Given the description of an element on the screen output the (x, y) to click on. 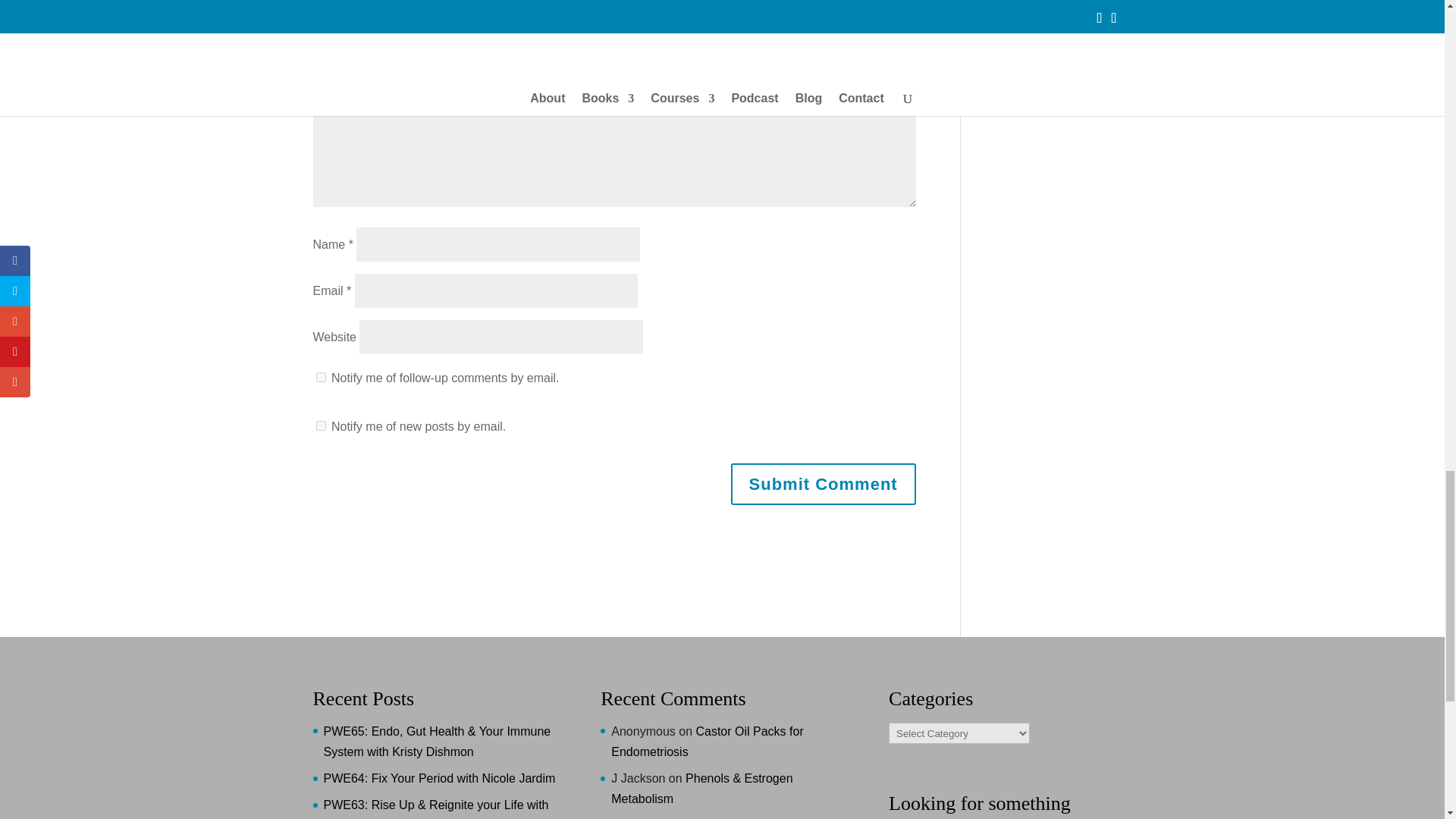
Submit Comment (822, 484)
Submit Comment (822, 484)
Castor Oil Packs for Endometriosis (707, 741)
subscribe (319, 425)
subscribe (319, 377)
PWE64: Fix Your Period with Nicole Jardim (438, 778)
